Given the description of an element on the screen output the (x, y) to click on. 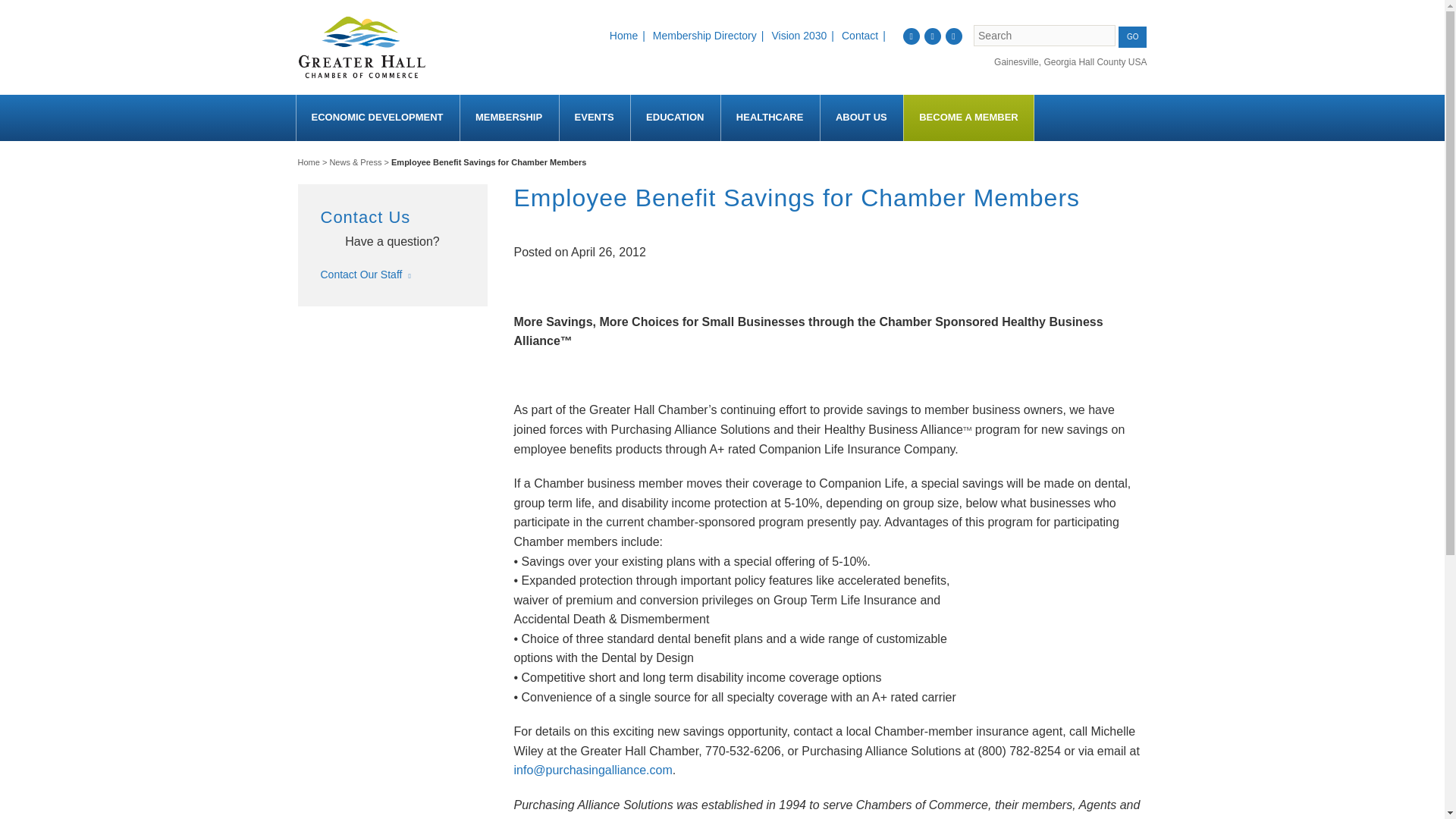
GO (1132, 36)
HEALTHCARE (769, 117)
MEMBERSHIP (508, 117)
Contact (865, 35)
Home (629, 35)
Membership Directory (710, 35)
EVENTS (593, 117)
Vision 2030 (804, 35)
Instagram (932, 36)
LinkedIn (953, 36)
